Given the description of an element on the screen output the (x, y) to click on. 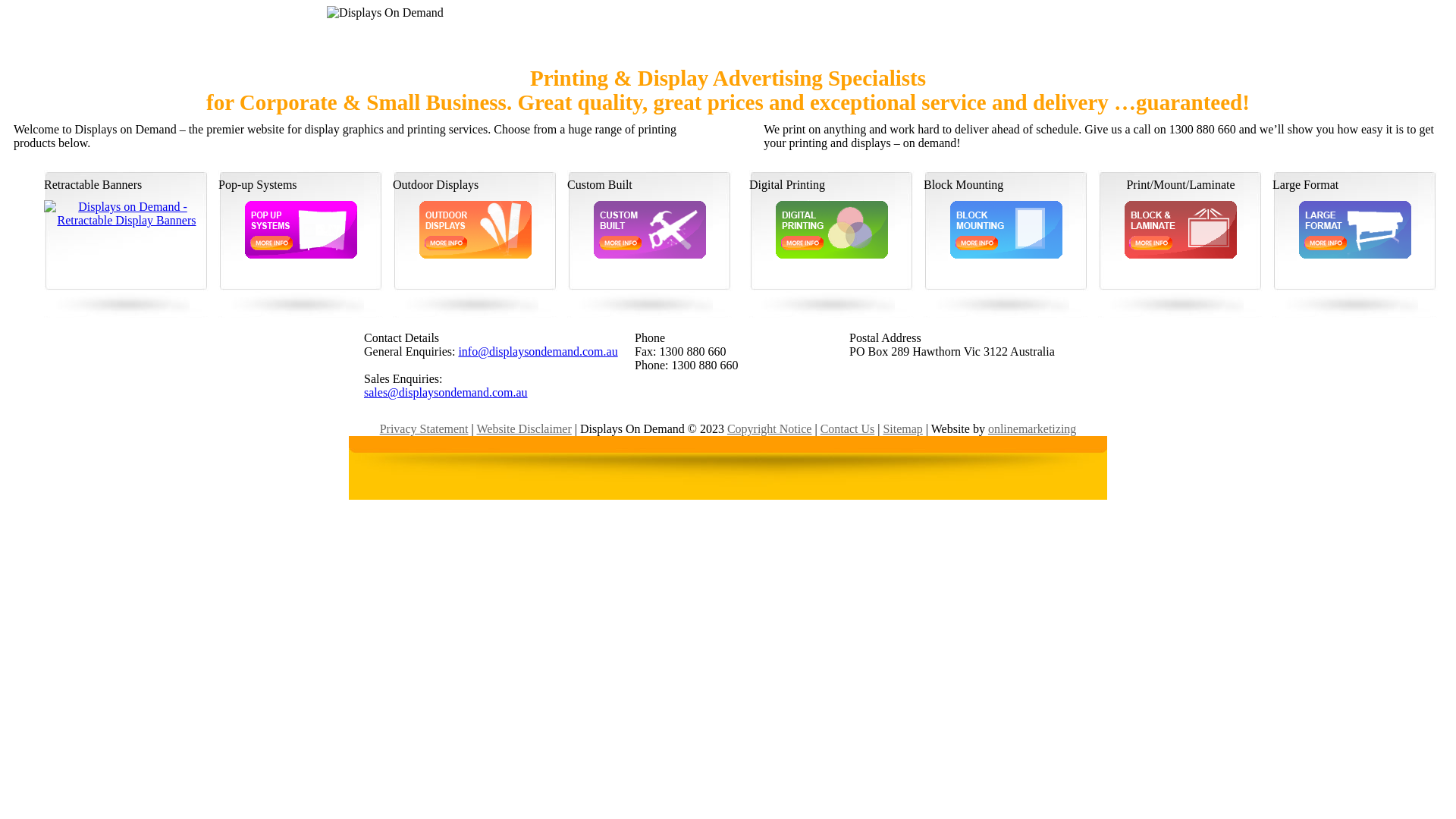
Displays on Demand - Block Mounting Element type: hover (1006, 254)
Digital Printing Displays on Demand Element type: hover (831, 254)
Website Disclaimer Element type: text (523, 428)
Displays on Demand - Retractable Display Banners Element type: hover (126, 219)
Displays on Demand Element type: hover (649, 254)
Copyright Notice Element type: text (769, 428)
Displays on Demand Element type: hover (1180, 254)
Displays on Demand Element type: hover (475, 254)
sales@displaysondemand.com.au Element type: text (445, 391)
Sitemap Element type: text (902, 428)
Displays on Demand - Large format printing Element type: hover (1355, 254)
info@displaysondemand.com.au Element type: text (537, 351)
Displays on Demand - Pop Up Display Banners Element type: hover (300, 254)
Contact Us Element type: text (847, 428)
onlinemarketizing Element type: text (1032, 428)
Privacy Statement Element type: text (423, 428)
